Given the description of an element on the screen output the (x, y) to click on. 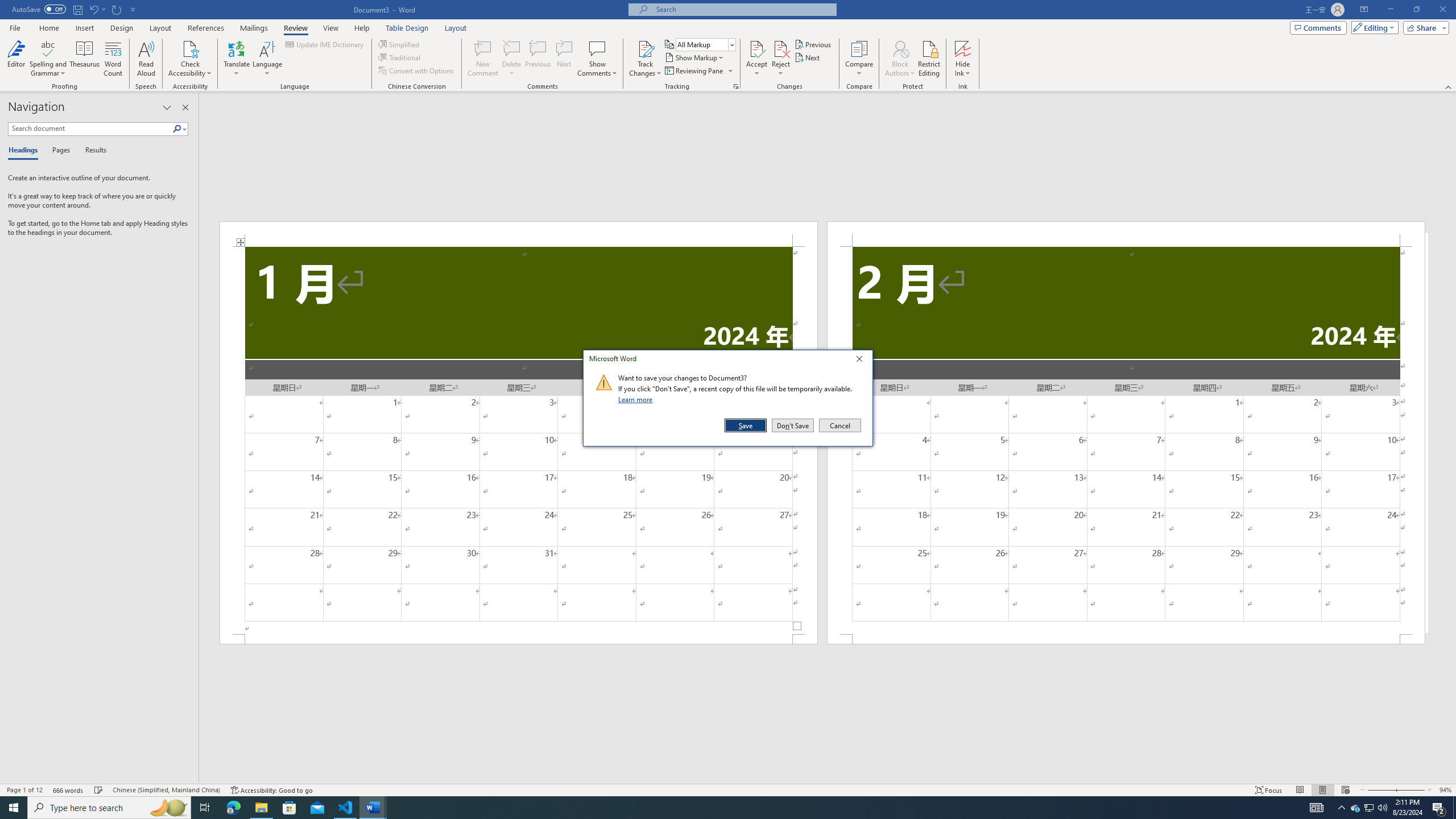
Update IME Dictionary... (324, 44)
Don't Save (792, 425)
Footer -Section 2- (1126, 638)
Running applications (717, 807)
Check Accessibility (189, 48)
Convert with Options... (417, 69)
